Given the description of an element on the screen output the (x, y) to click on. 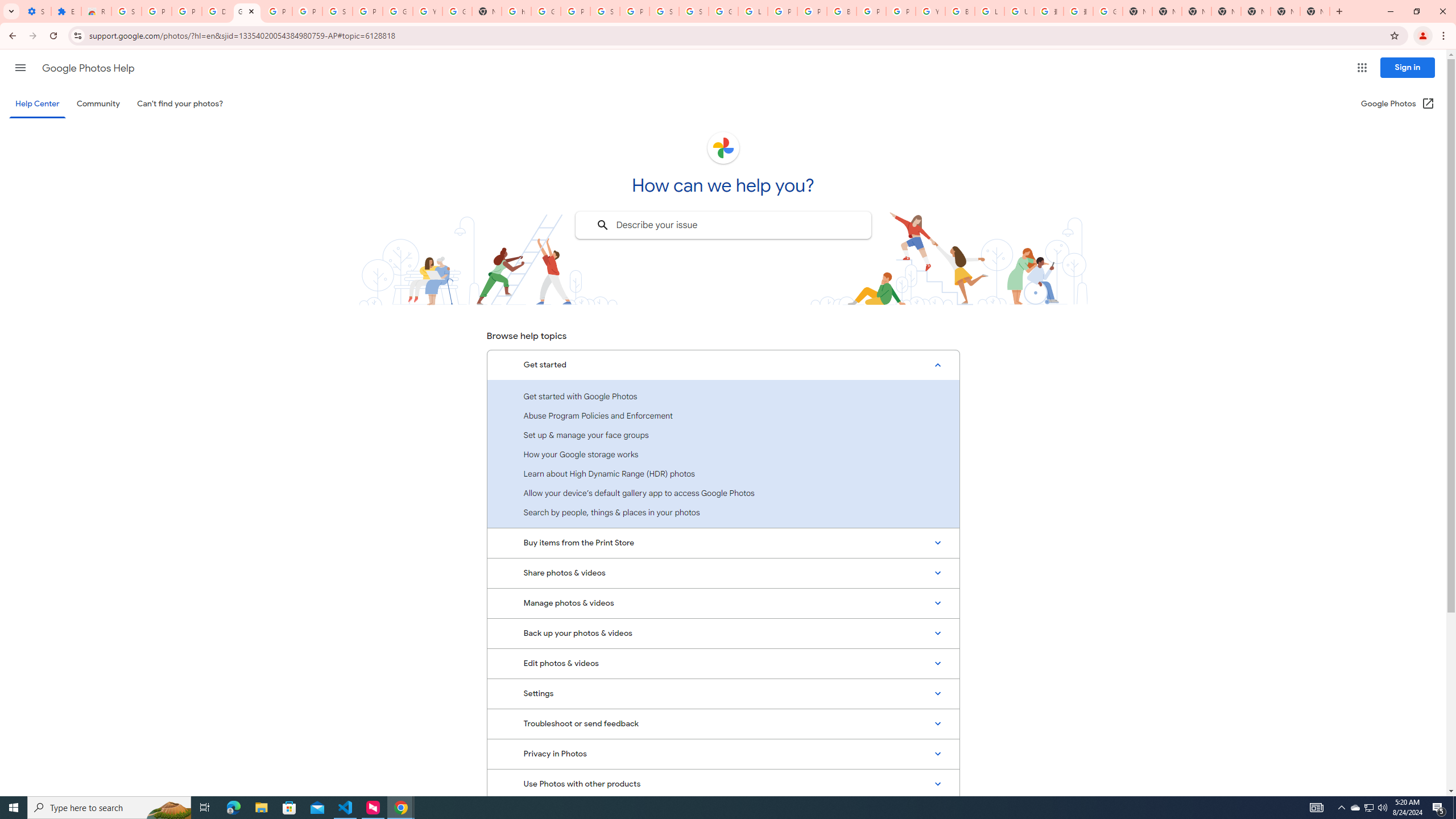
Sign in - Google Accounts (604, 11)
Buy items from the Print Store (722, 542)
Manage photos & videos (722, 603)
Use Photos with other products (722, 784)
Settings - On startup (36, 11)
